Given the description of an element on the screen output the (x, y) to click on. 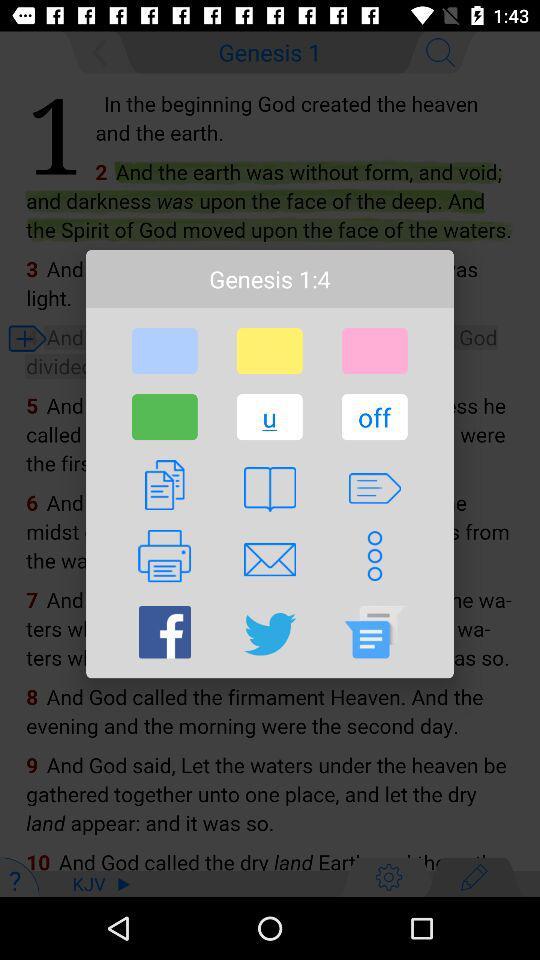
turn off the icon below off icon (374, 488)
